Given the description of an element on the screen output the (x, y) to click on. 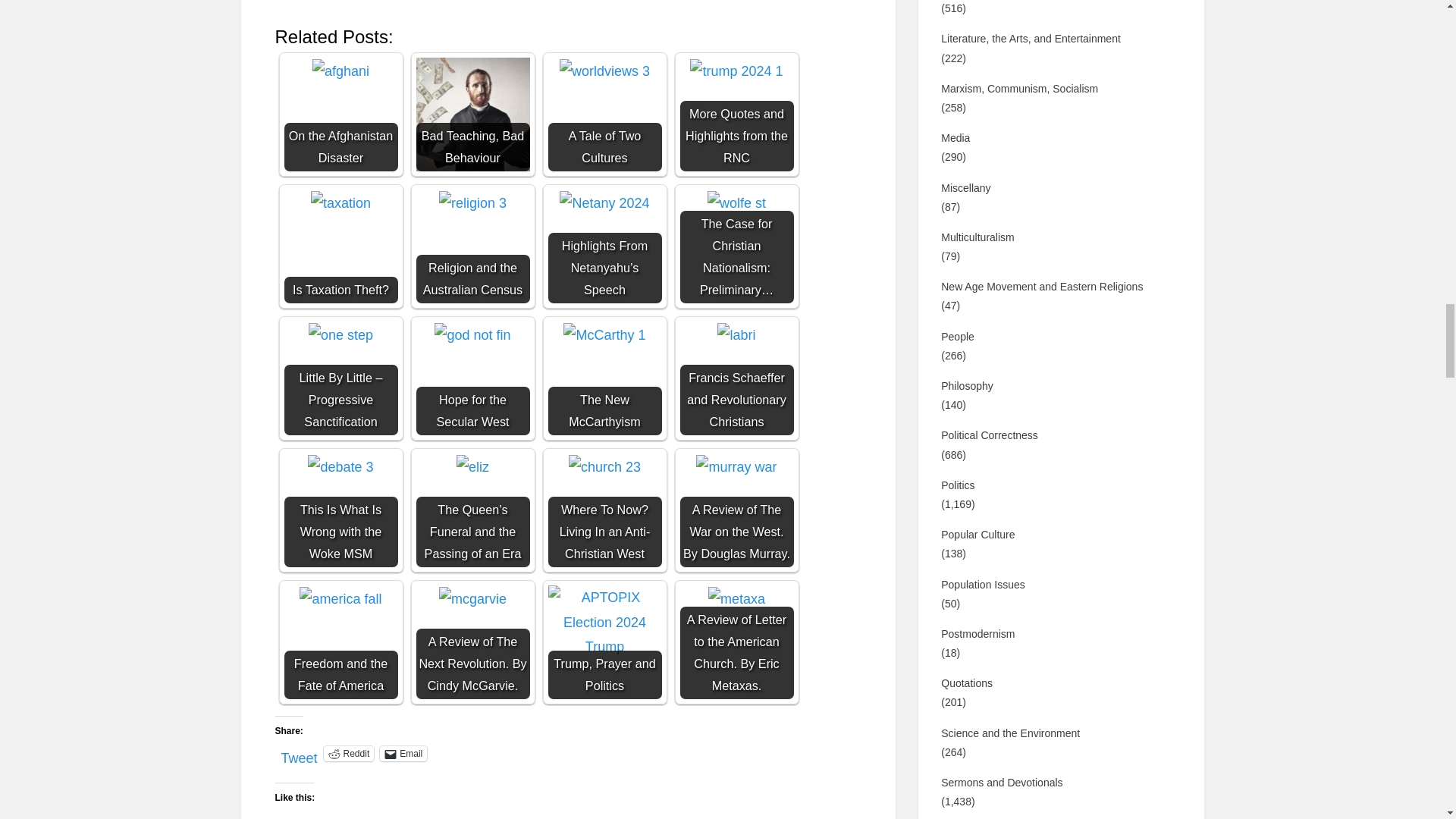
Freedom and the Fate of America (340, 642)
Email (403, 753)
Reddit (348, 753)
A Tale of Two Cultures (604, 70)
This Is What Is Wrong with the Woke MSM (339, 467)
Francis Schaeffer and Revolutionary Christians (736, 334)
Religion and the Australian Census (472, 202)
The New McCarthyism (604, 377)
Hope for the Secular West (471, 377)
A Review of The Next Revolution. By Cindy McGarvie. (471, 642)
Bad Teaching, Bad Behaviour (471, 114)
Religion and the Australian Census (471, 246)
Where To Now? Living In an Anti-Christian West (604, 510)
Francis Schaeffer and Revolutionary Christians (736, 377)
Hope for the Secular West (472, 334)
